Given the description of an element on the screen output the (x, y) to click on. 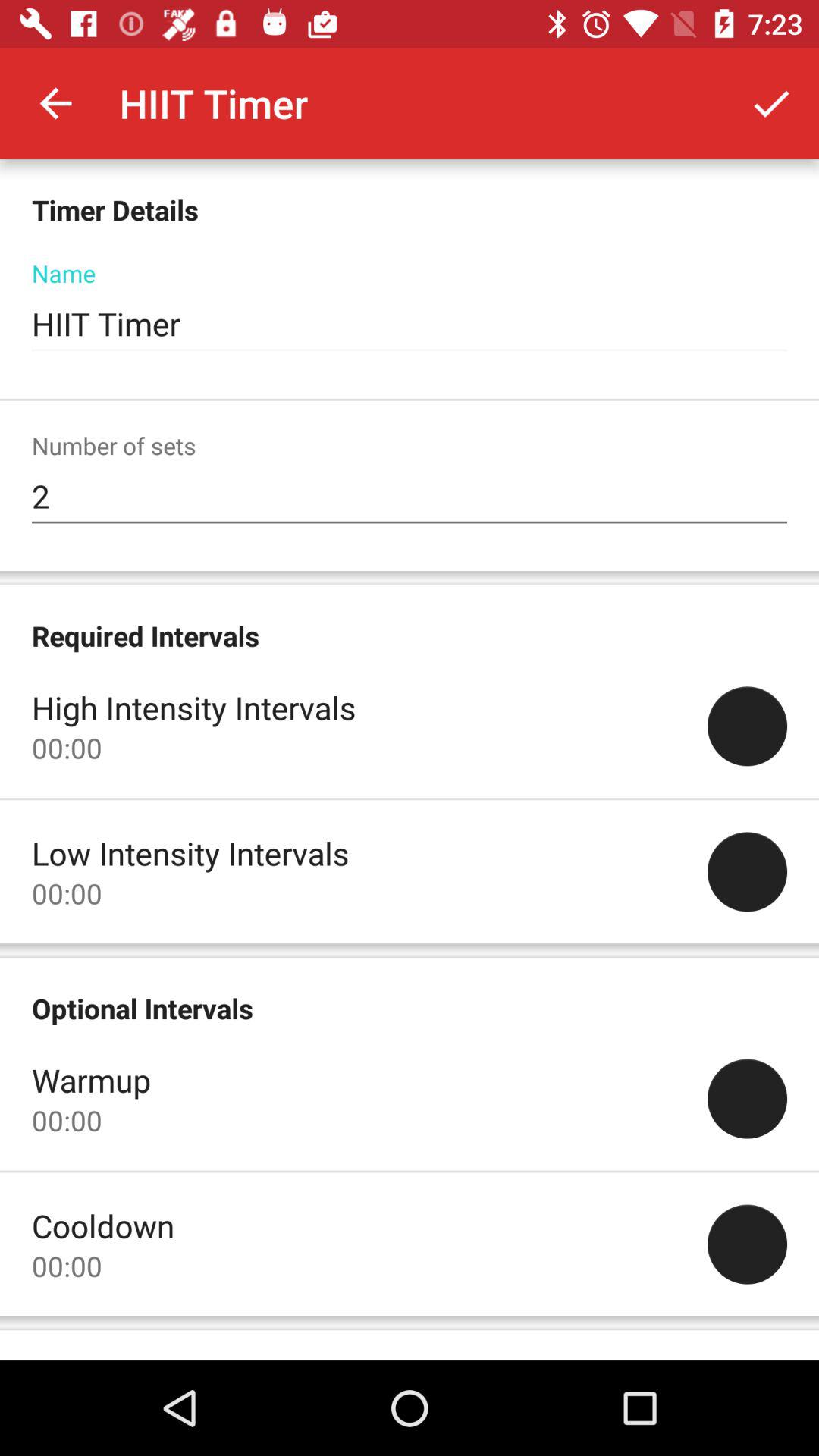
turn off item next to the hiit timer item (55, 103)
